Given the description of an element on the screen output the (x, y) to click on. 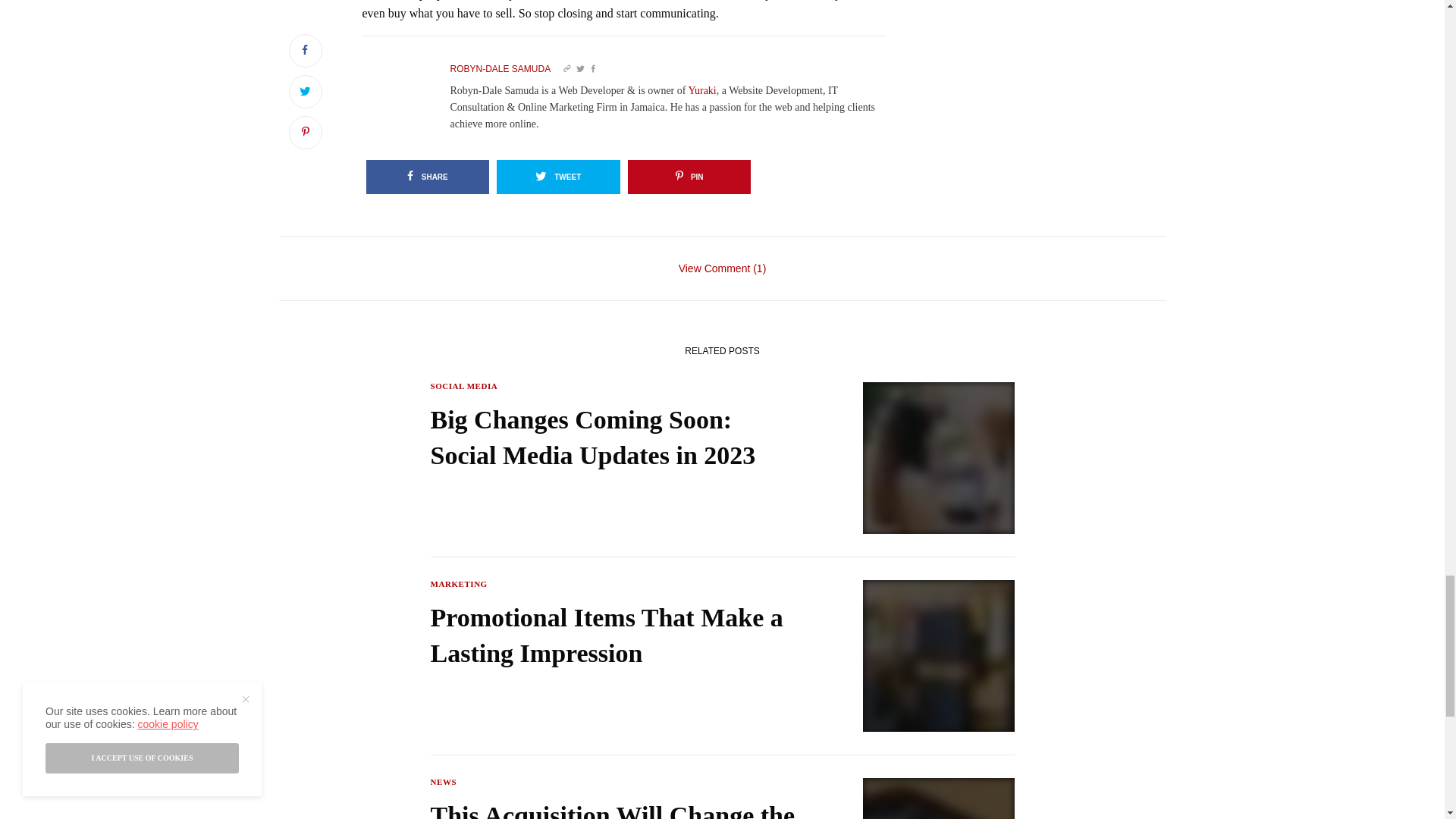
Big Changes Coming Soon: Social Media Updates in 2023 (617, 438)
Promotional Items That Make a Lasting Impression (617, 635)
Website design in Jamaica (701, 90)
ROBYN-DALE SAMUDA (500, 68)
TWEET (558, 176)
Yuraki (701, 90)
SHARE (427, 176)
